Given the description of an element on the screen output the (x, y) to click on. 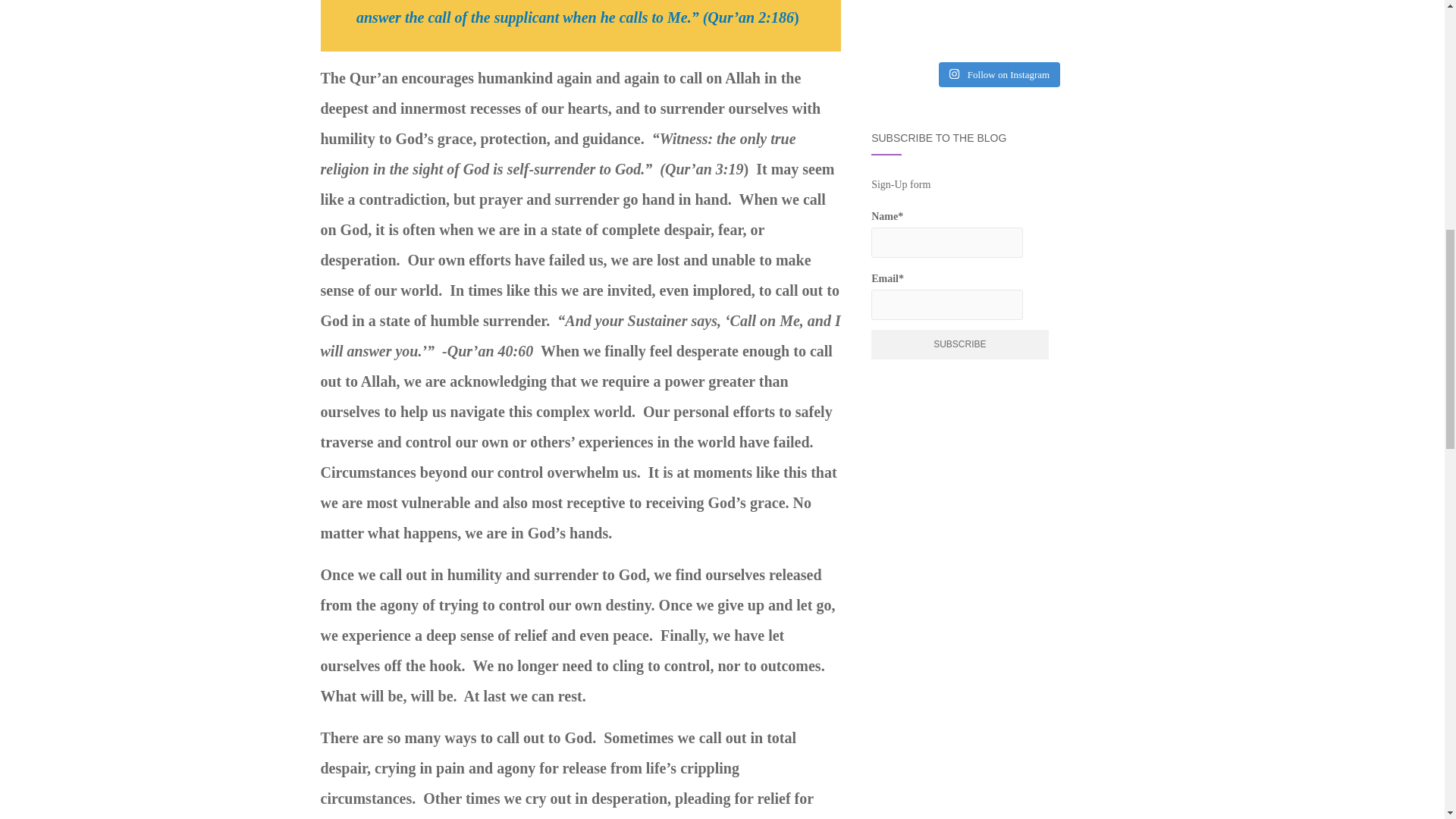
Subscribe (959, 344)
Subscribe (959, 344)
Follow on Instagram (999, 74)
